Given the description of an element on the screen output the (x, y) to click on. 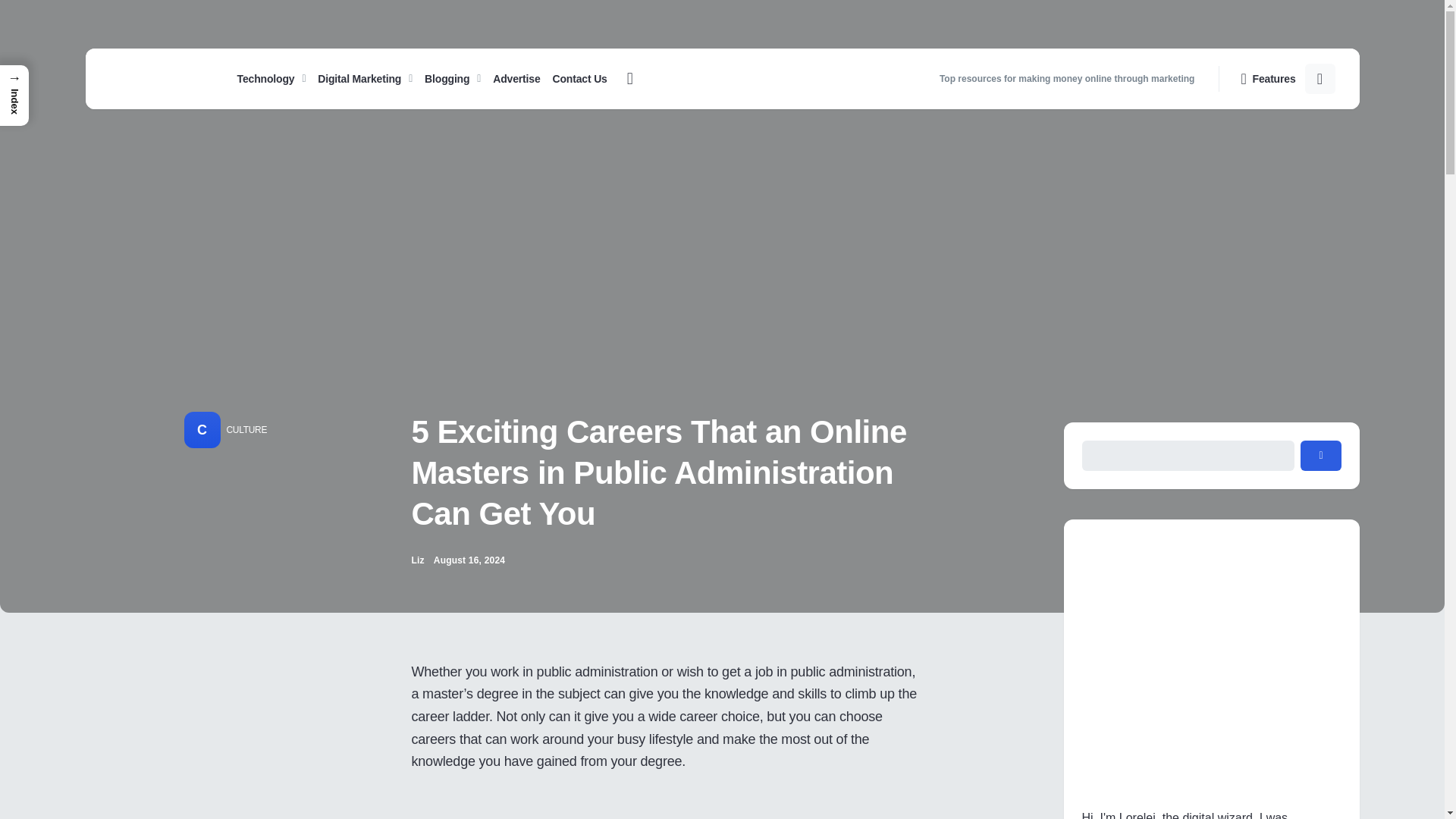
View all posts by Liz (416, 560)
Blogging (452, 78)
Contact Us (577, 78)
Digital Marketing (365, 78)
Advertise (516, 78)
Technology (275, 78)
